Given the description of an element on the screen output the (x, y) to click on. 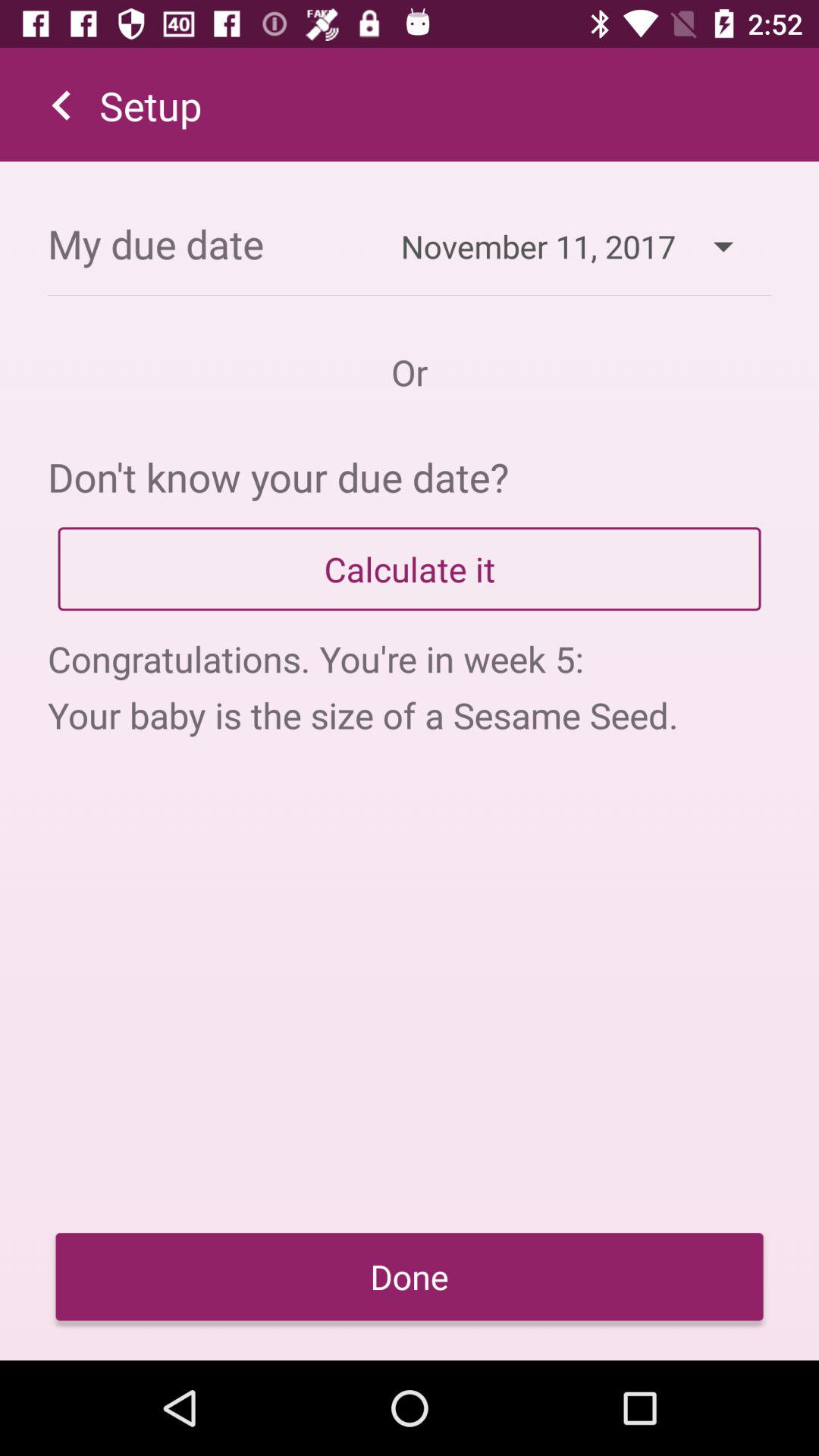
press done (409, 1276)
